Given the description of an element on the screen output the (x, y) to click on. 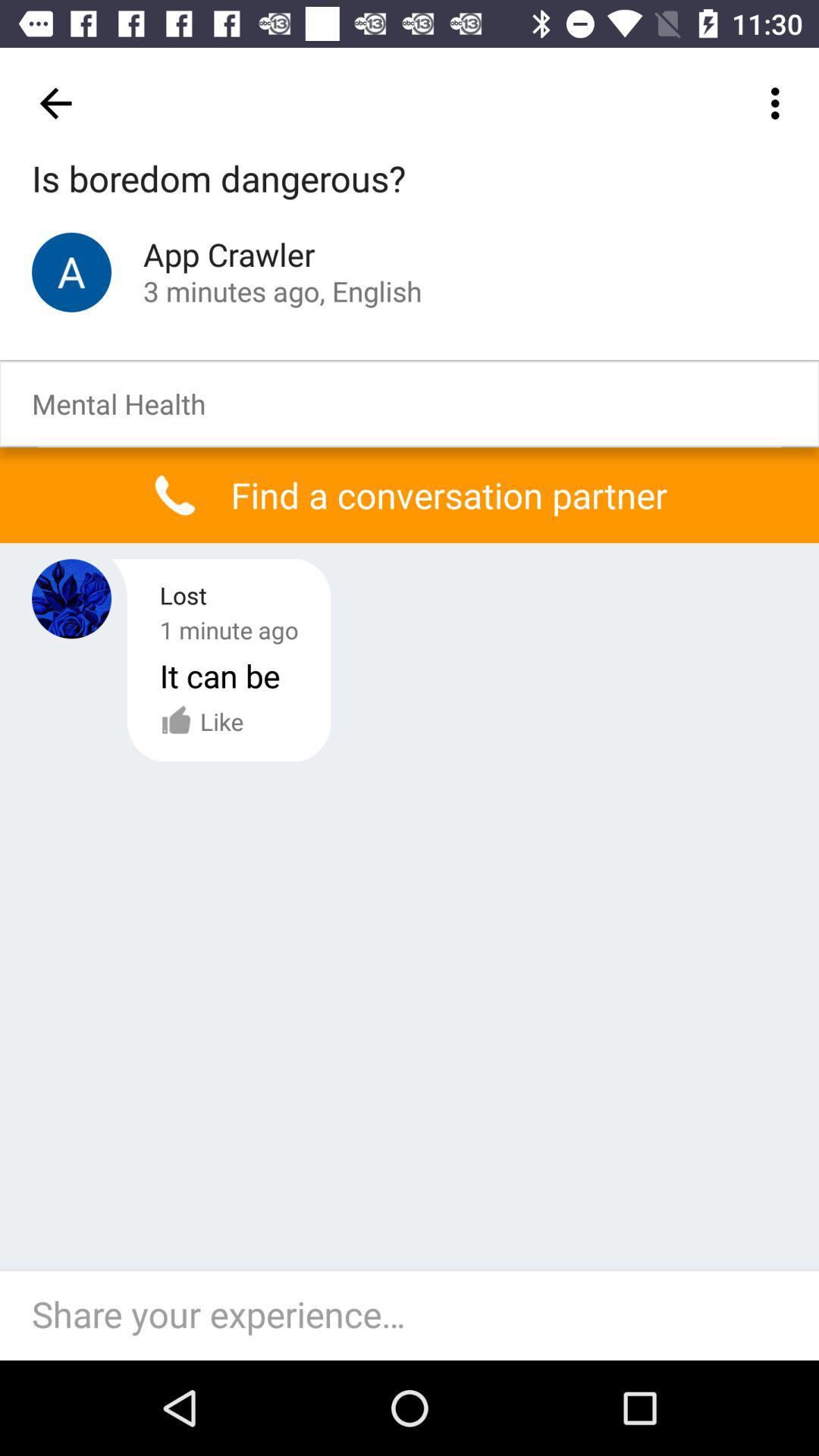
enter answer (417, 1315)
